Given the description of an element on the screen output the (x, y) to click on. 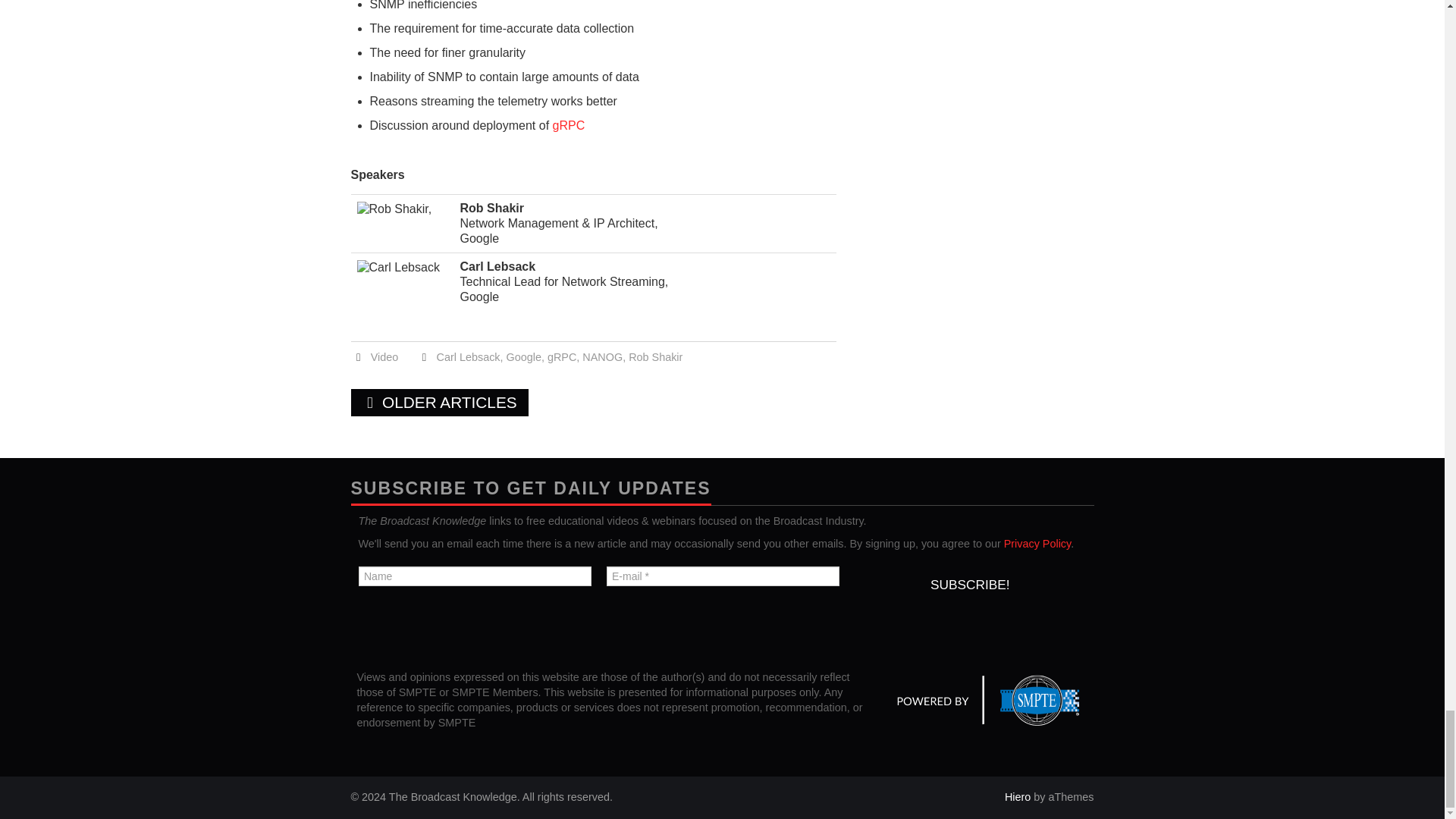
Subscribe! (969, 584)
